Given the description of an element on the screen output the (x, y) to click on. 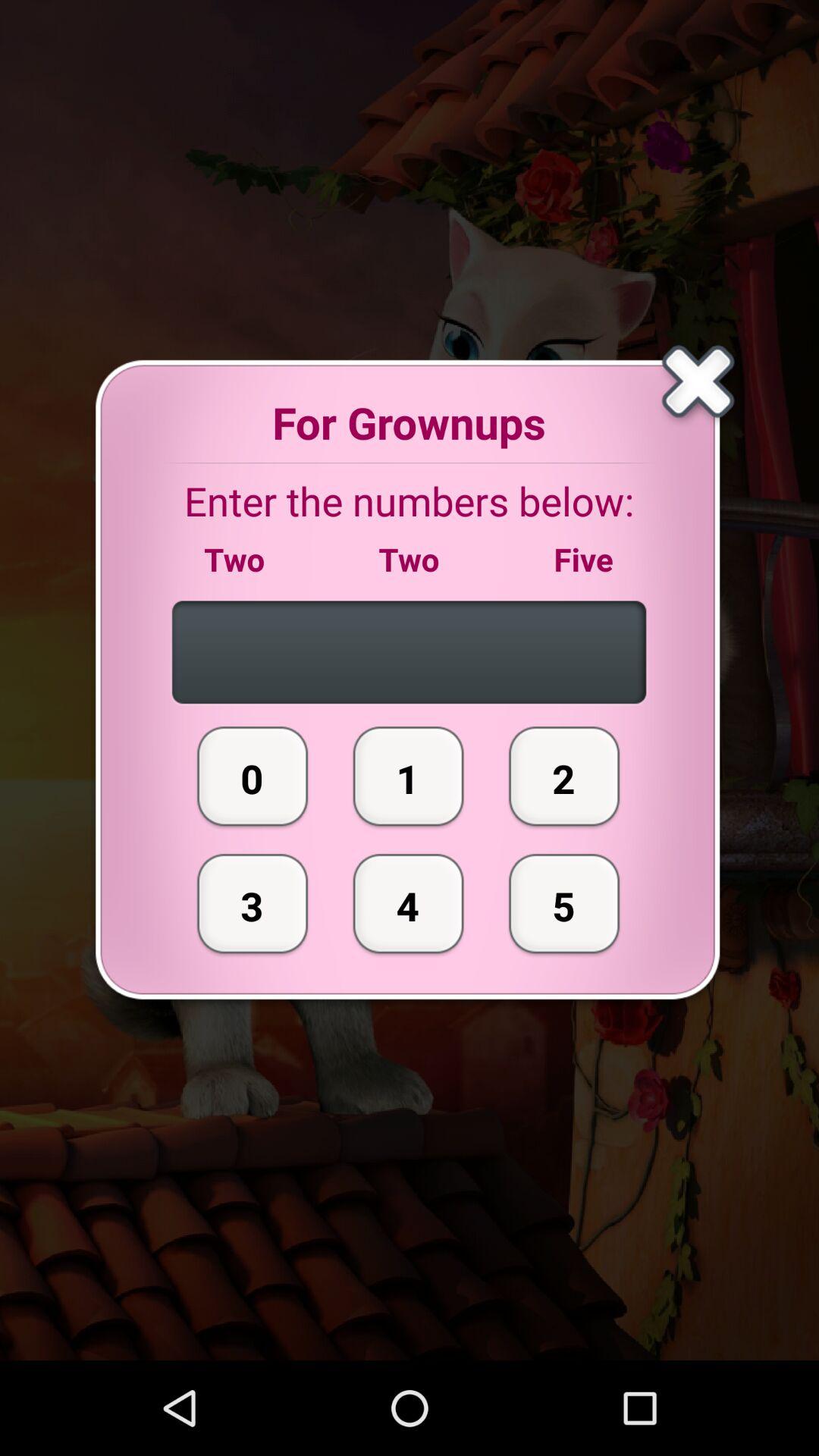
open the 1 button (408, 776)
